Given the description of an element on the screen output the (x, y) to click on. 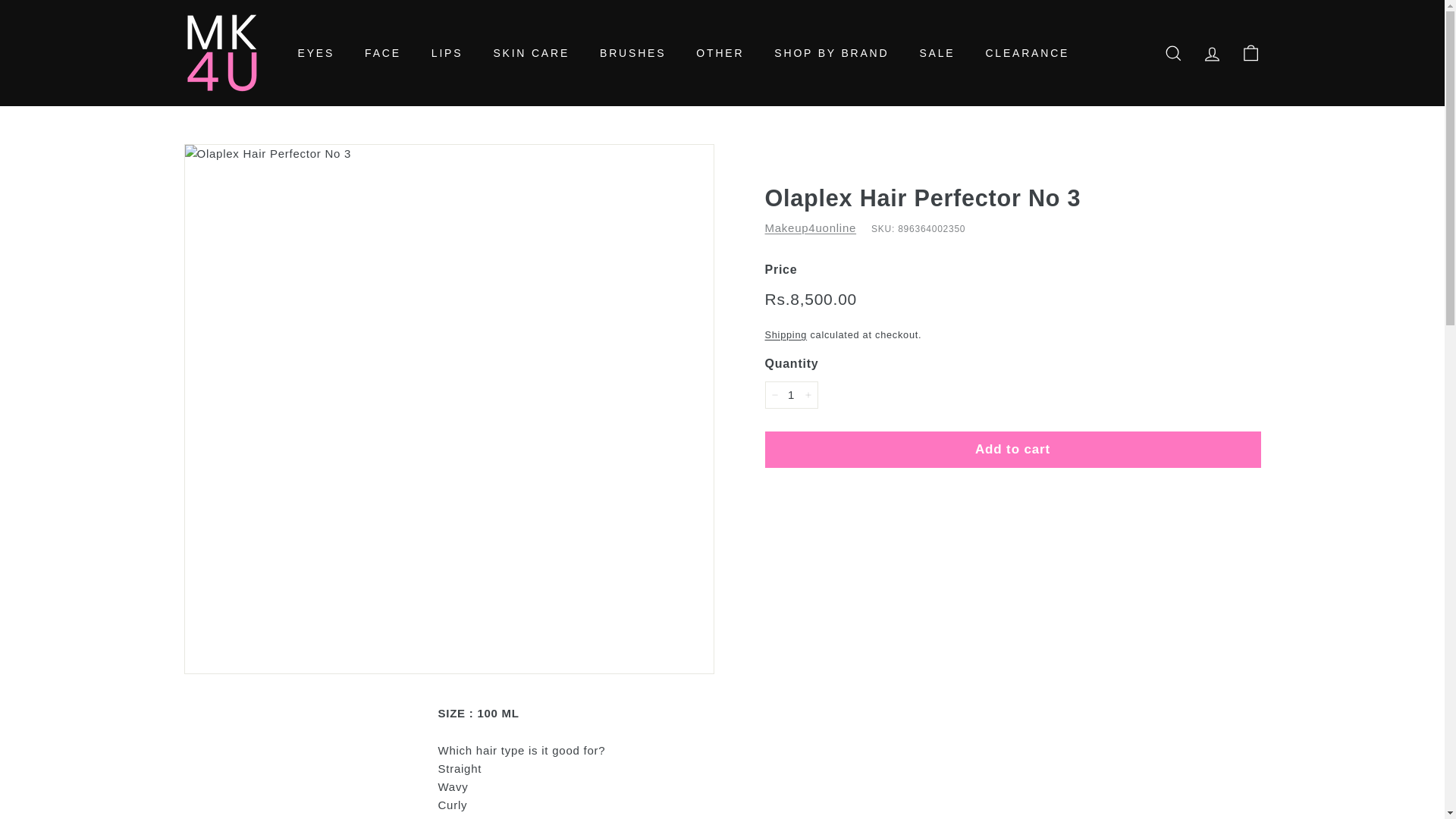
1 (790, 394)
SHOP BY BRAND (831, 52)
EYES (315, 52)
Makeup4uonline (810, 227)
BRUSHES (633, 52)
FACE (382, 52)
SKIN CARE (531, 52)
OTHER (719, 52)
LIPS (447, 52)
